Given the description of an element on the screen output the (x, y) to click on. 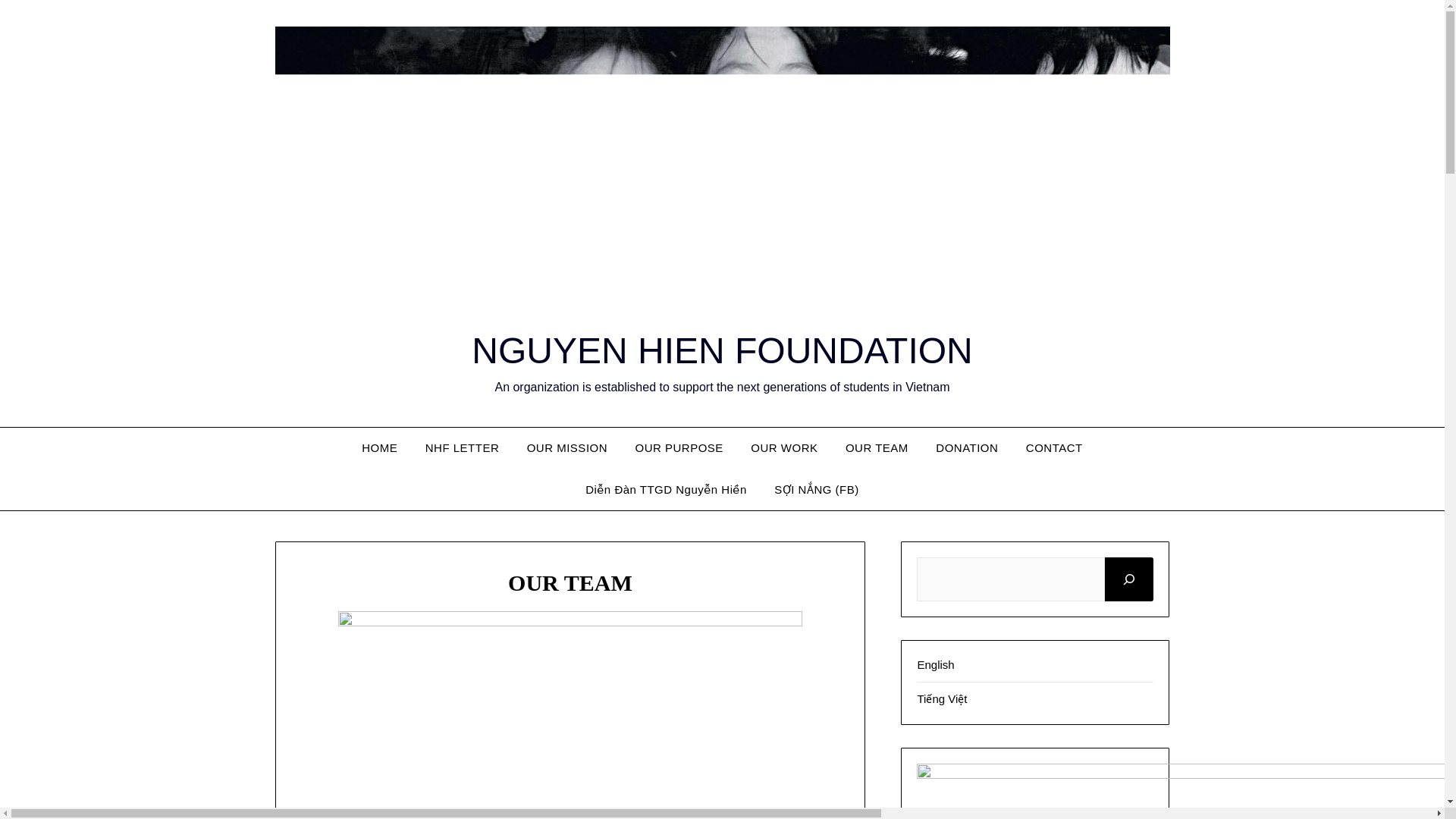
OUR TEAM (876, 447)
CONTACT (1053, 447)
NGUYEN HIEN FOUNDATION (721, 350)
OUR PURPOSE (679, 447)
OUR WORK (783, 447)
NHF LETTER (462, 447)
OUR MISSION (567, 447)
English (935, 664)
HOME (379, 447)
DONATION (966, 447)
